Given the description of an element on the screen output the (x, y) to click on. 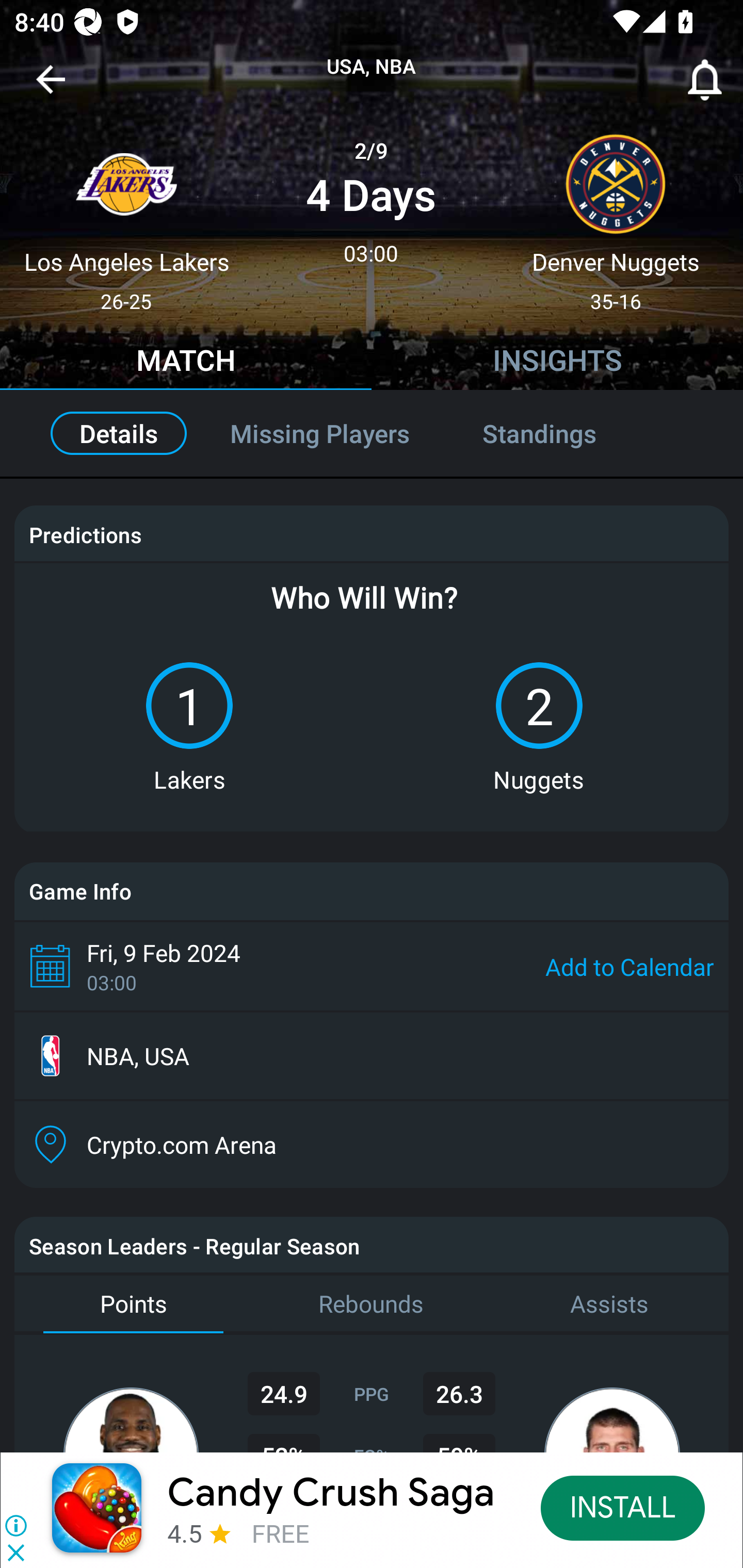
Navigate up (50, 86)
USA, NBA (371, 66)
Los Angeles Lakers 26-25 (126, 214)
Denver Nuggets 35-16 (616, 214)
MATCH (185, 362)
INSIGHTS (557, 362)
Missing Players (319, 433)
Standings (561, 433)
Predictions (85, 534)
1 (189, 705)
2 (538, 705)
Game Info (371, 891)
Fri, 9 Feb 2024 03:00 Add to Calendar (371, 965)
NBA, USA (371, 1055)
Crypto.com Arena (371, 1144)
Rebounds (371, 1303)
Assists (609, 1303)
Candy Crush Saga (330, 1493)
INSTALL (623, 1507)
